Given the description of an element on the screen output the (x, y) to click on. 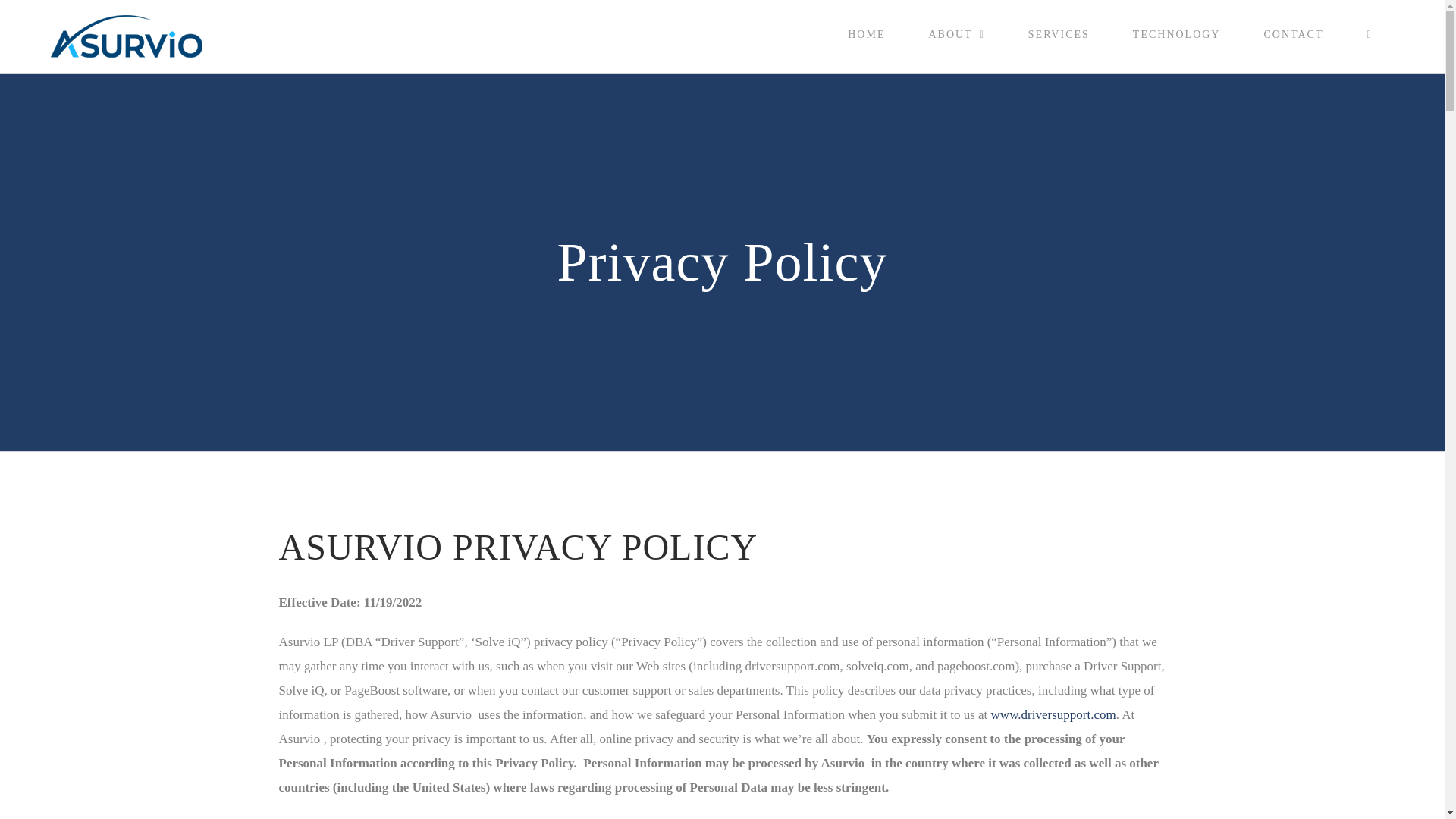
ABOUT (956, 34)
HOME (867, 34)
CONTACT (1293, 34)
SERVICES (1058, 34)
TECHNOLOGY (1175, 34)
www.driversupport.com (1053, 714)
